Given the description of an element on the screen output the (x, y) to click on. 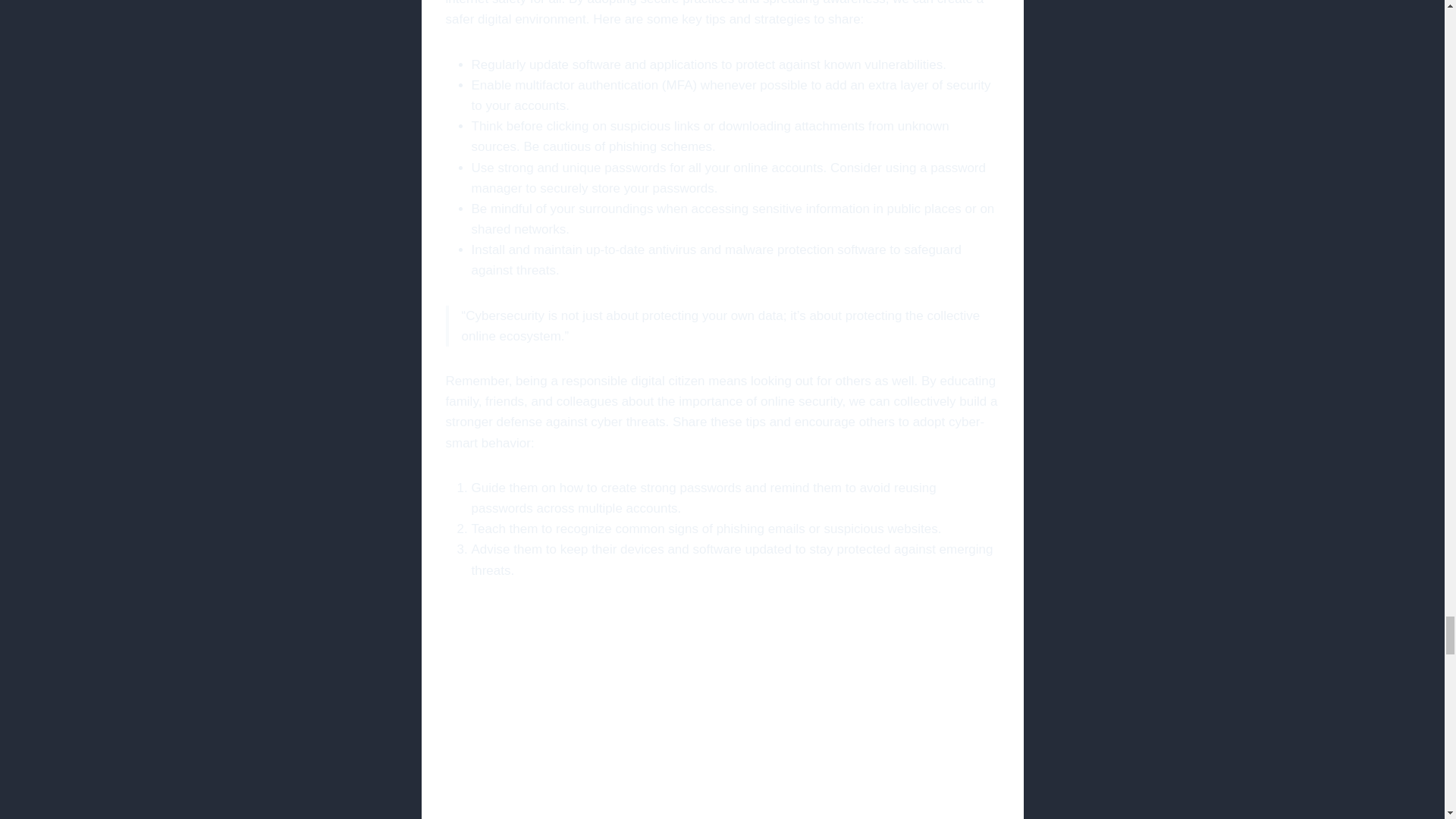
online security (721, 712)
